Given the description of an element on the screen output the (x, y) to click on. 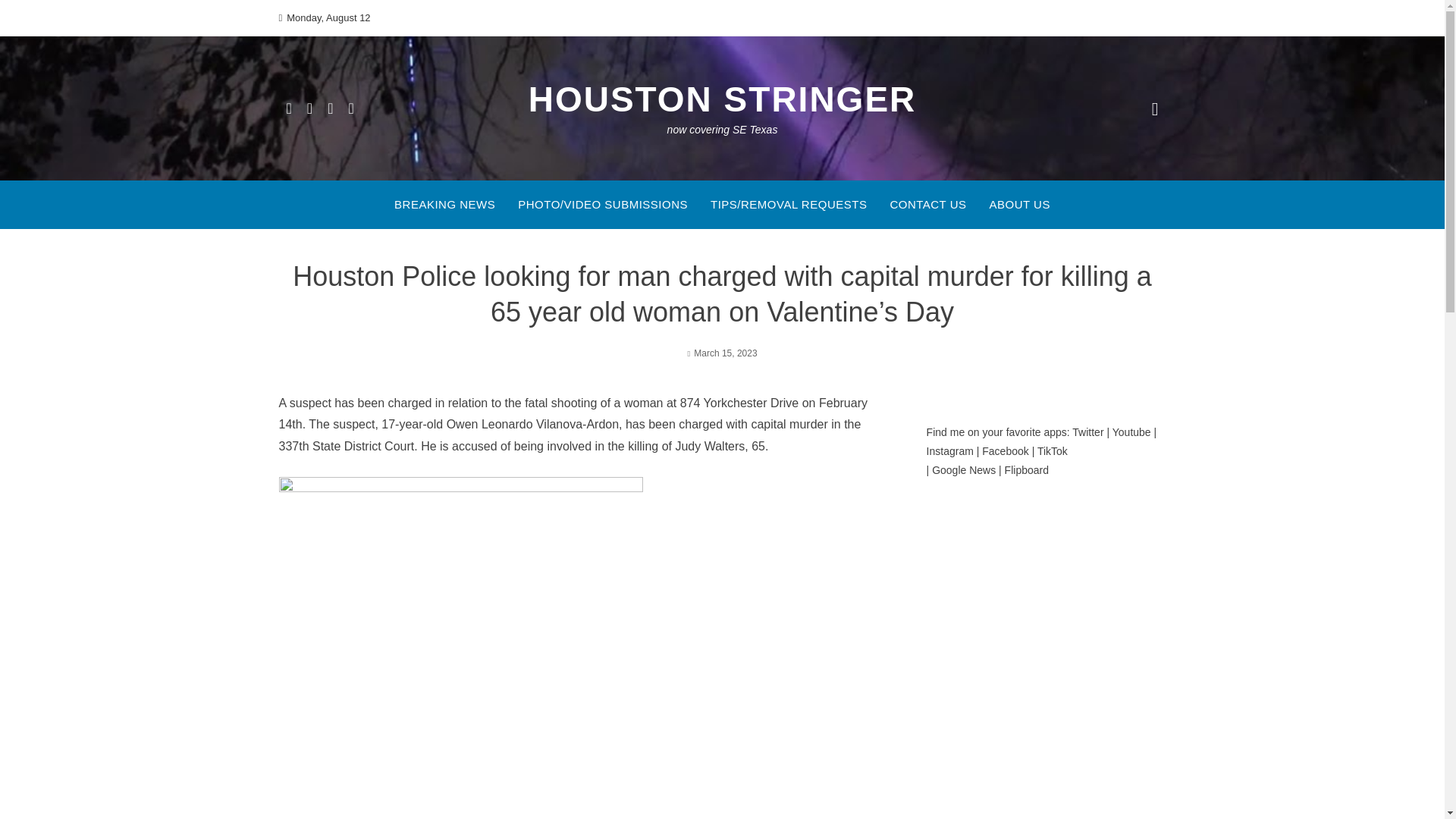
Youtube (1131, 431)
Twitter (1087, 431)
now covering SE Texas (721, 129)
HOUSTON STRINGER (722, 98)
Google News (963, 469)
Flipboard (1026, 469)
BREAKING NEWS (444, 204)
Instagram (950, 451)
TikTok (1051, 451)
Facebook (1004, 451)
